Given the description of an element on the screen output the (x, y) to click on. 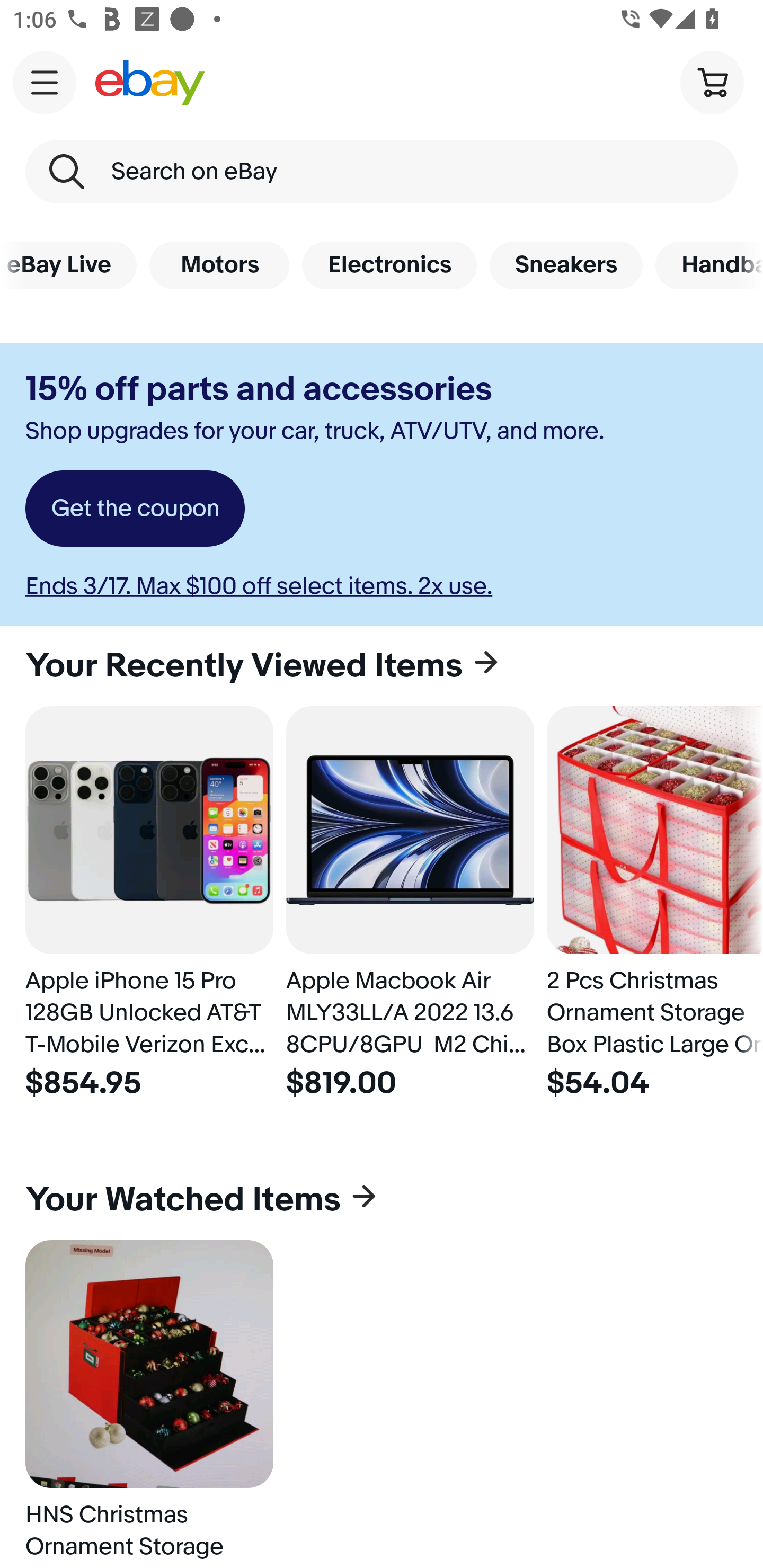
Main navigation, open (44, 82)
Cart button shopping cart (711, 81)
Search on eBay Search Keyword Search on eBay (381, 171)
eBay Live (68, 264)
Motors (219, 264)
Electronics (389, 264)
Sneakers (565, 264)
15% off parts and accessories (258, 389)
Get the coupon (134, 508)
Ends 3/17. Max $100 off select items. 2x use. (258, 586)
Your Recently Viewed Items   (381, 665)
Your Watched Items   (381, 1200)
